Given the description of an element on the screen output the (x, y) to click on. 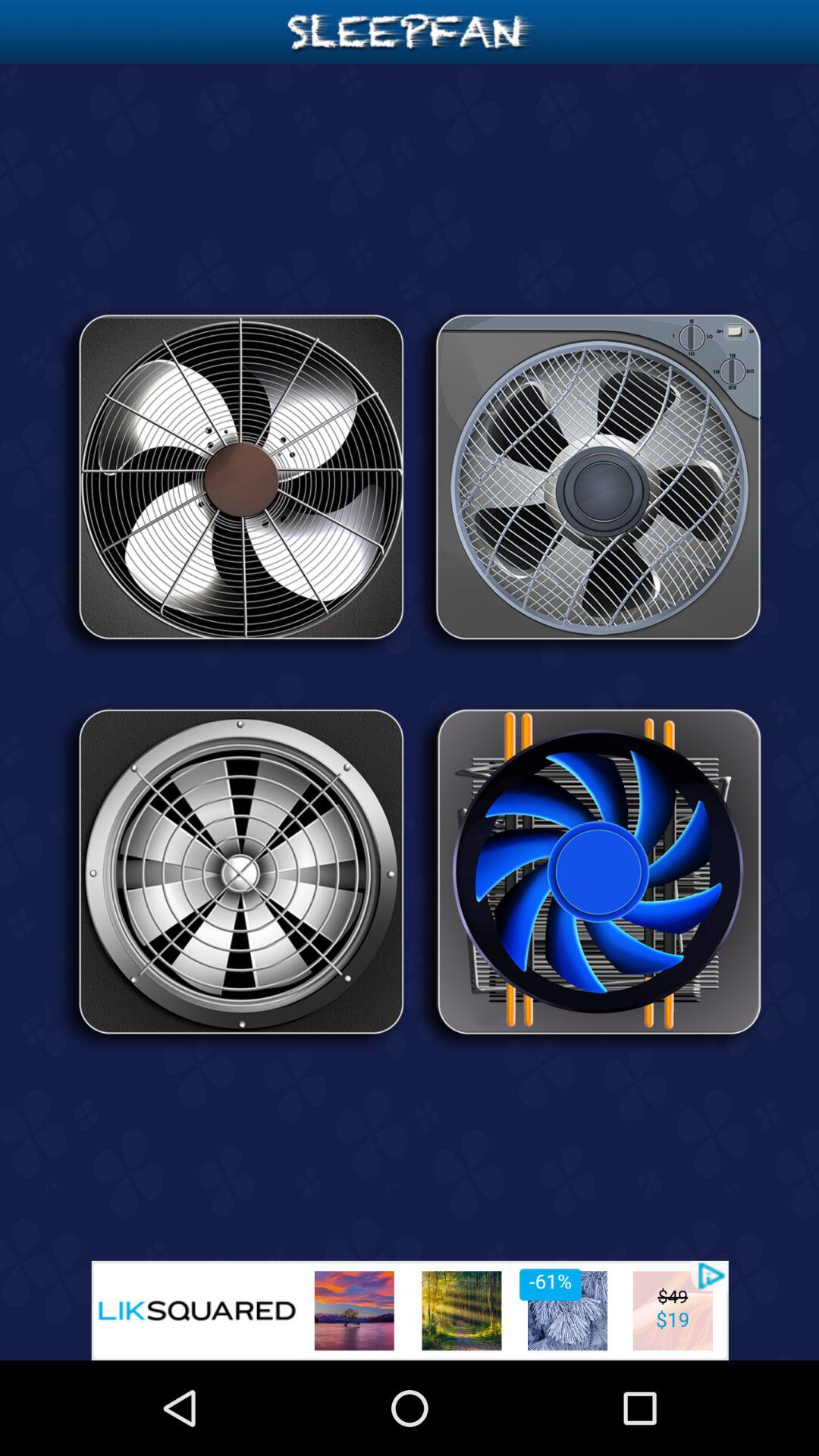
turn on the icon at the top left corner (230, 482)
